Given the description of an element on the screen output the (x, y) to click on. 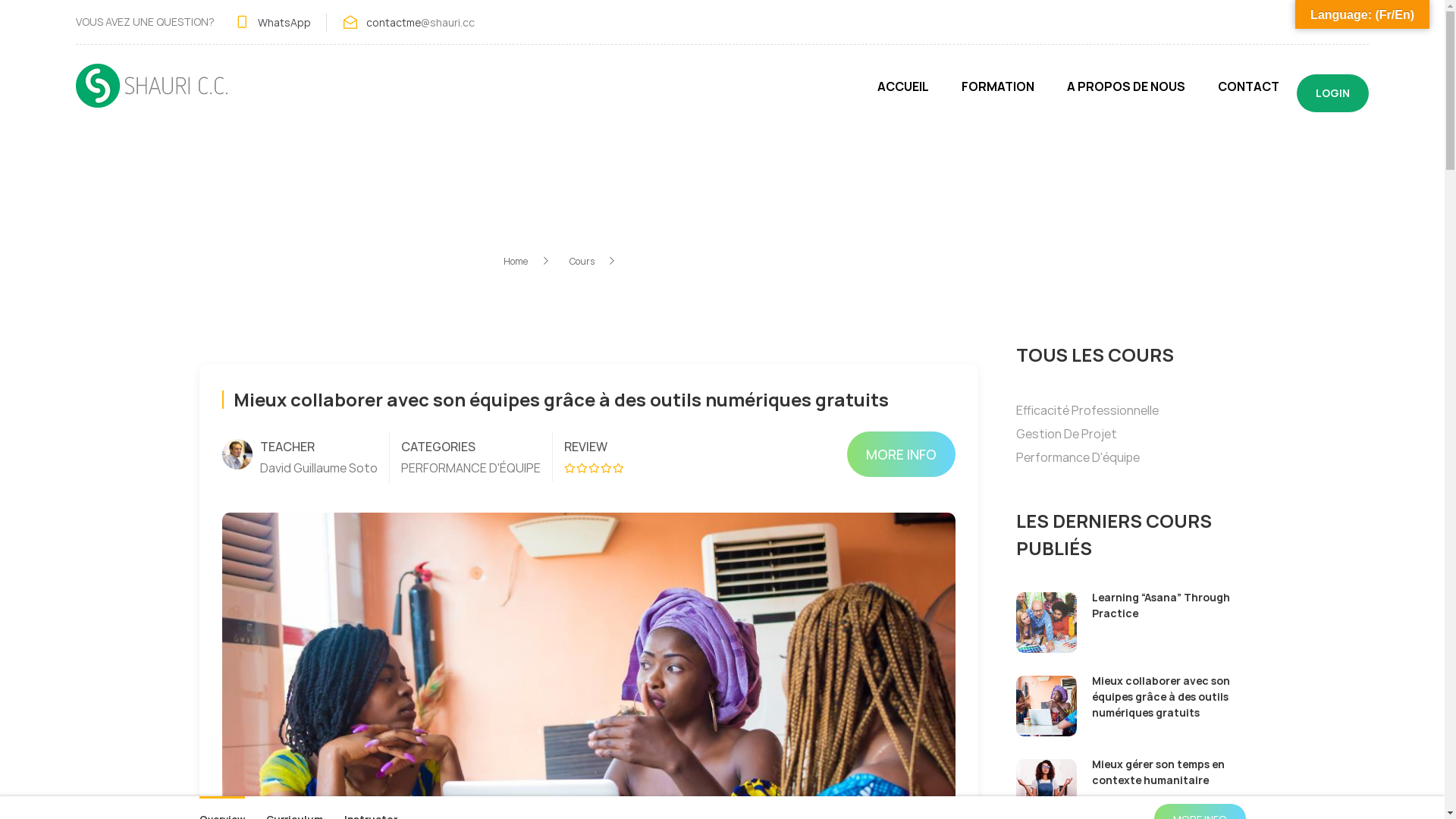
LOGIN Element type: text (1332, 93)
Login Element type: text (834, 438)
ACCUEIL Element type: text (903, 93)
Cours Element type: text (591, 260)
FORMATION Element type: text (997, 93)
CONTACT Element type: text (1248, 93)
WhatsApp Element type: text (283, 21)
LOGIN Element type: text (1343, 21)
Home Element type: text (526, 260)
contactme Element type: text (393, 21)
David Guillaume Soto Element type: text (317, 467)
Shauri - CC Academy - Corporate E-learning Platform Element type: hover (151, 92)
Gestion De Projet Element type: text (1066, 433)
MORE INFO Element type: text (901, 453)
A PROPOS DE NOUS Element type: text (1125, 93)
